Given the description of an element on the screen output the (x, y) to click on. 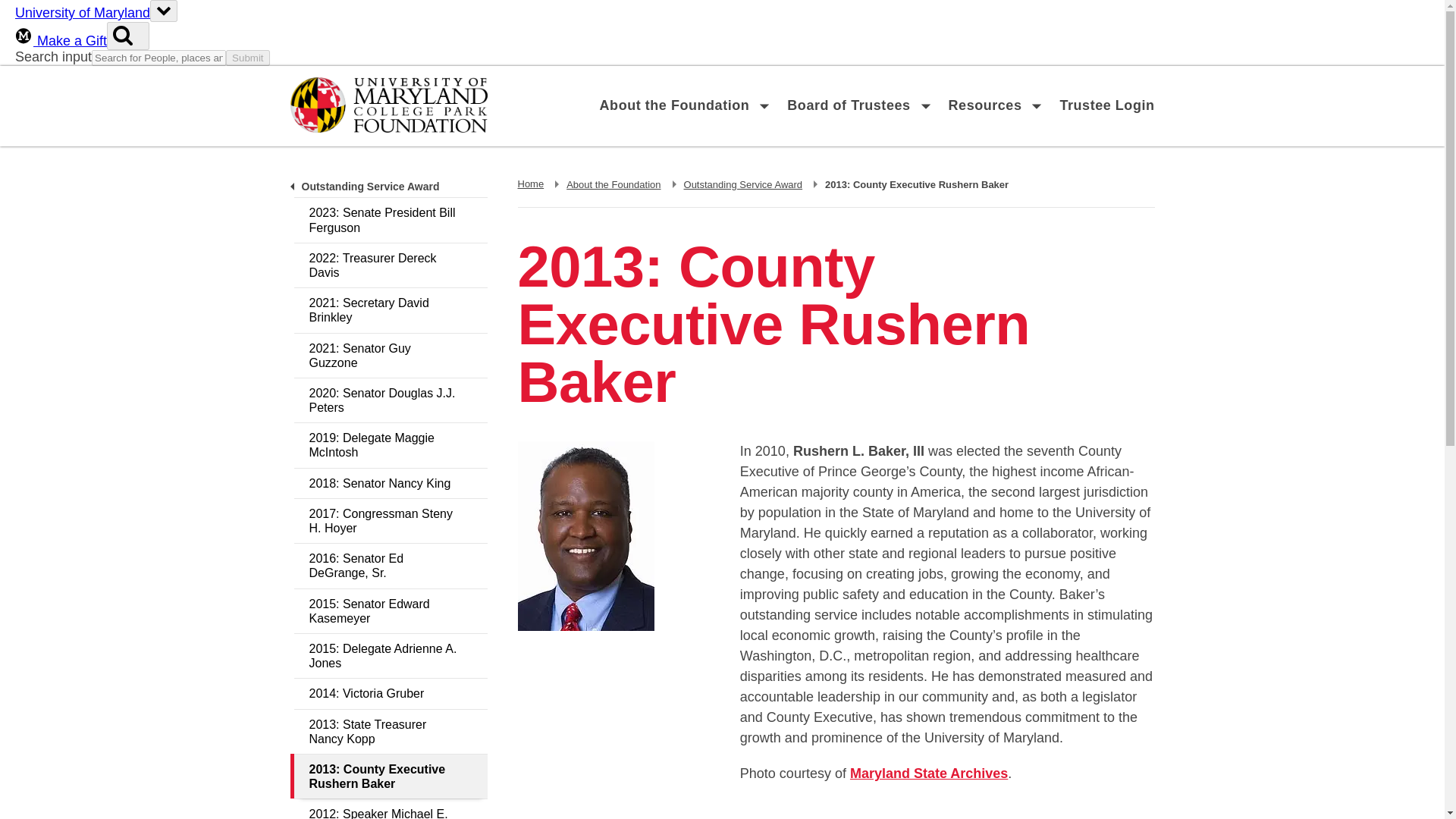
2016: Senator Ed DeGrange, Sr. (390, 565)
2014: Victoria Gruber (985, 105)
2018: Senator Nancy King (390, 693)
Maryland State Archives (390, 482)
2017: Congressman Steny H. Hoyer (613, 184)
2015: Senator Edward Kasemeyer (928, 773)
2022: Treasurer Dereck Davis (390, 519)
2019: Delegate Maggie McIntosh (390, 610)
2020: Senator Douglas J.J. Peters (390, 264)
2015: Delegate Adrienne A. Jones (390, 444)
Outstanding Service Award (390, 399)
